Given the description of an element on the screen output the (x, y) to click on. 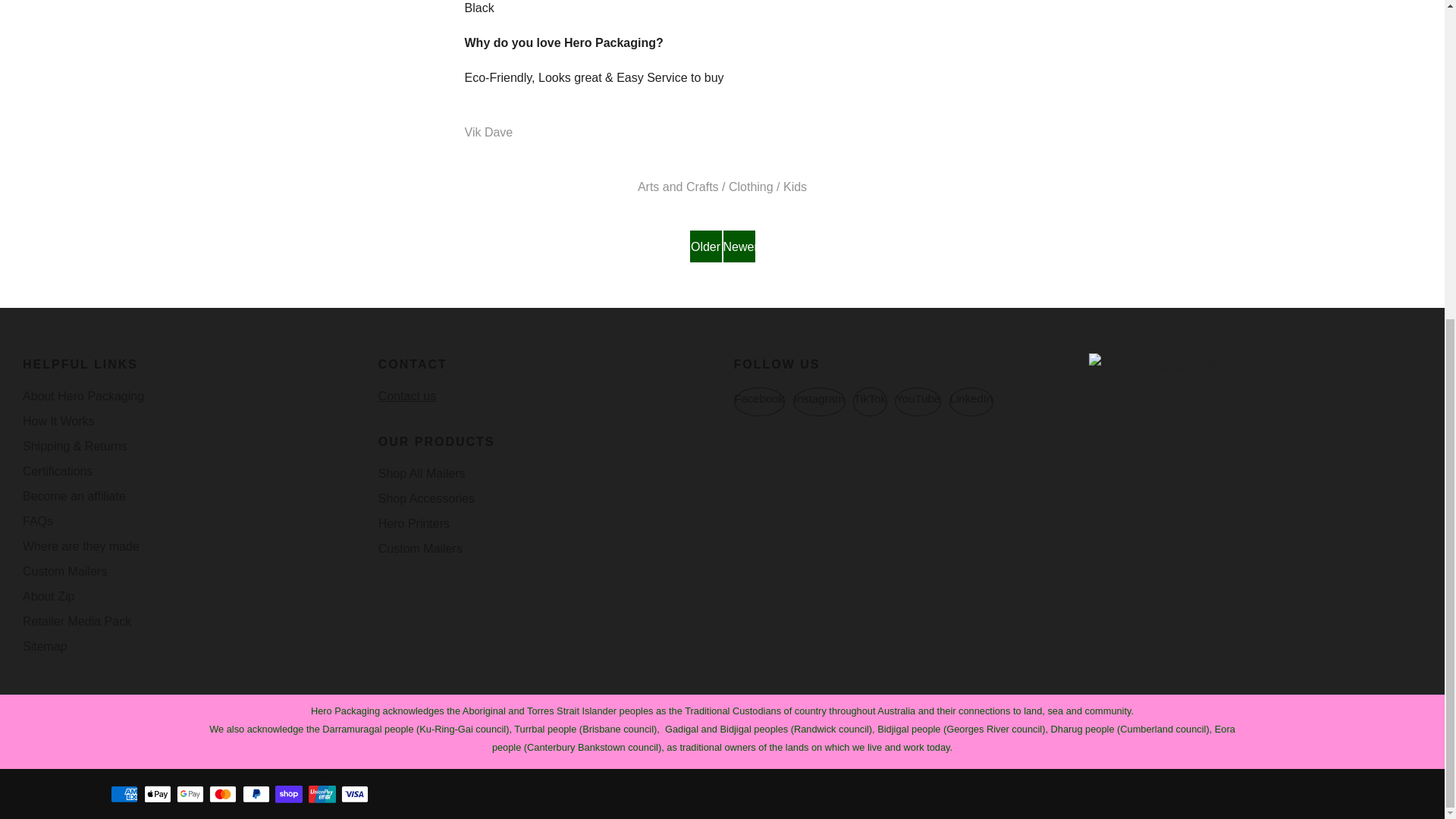
Contact Us (406, 395)
Show articles tagged Clothing (751, 186)
Show articles tagged Kids (794, 186)
Show articles tagged Arts and Crafts (678, 186)
